Given the description of an element on the screen output the (x, y) to click on. 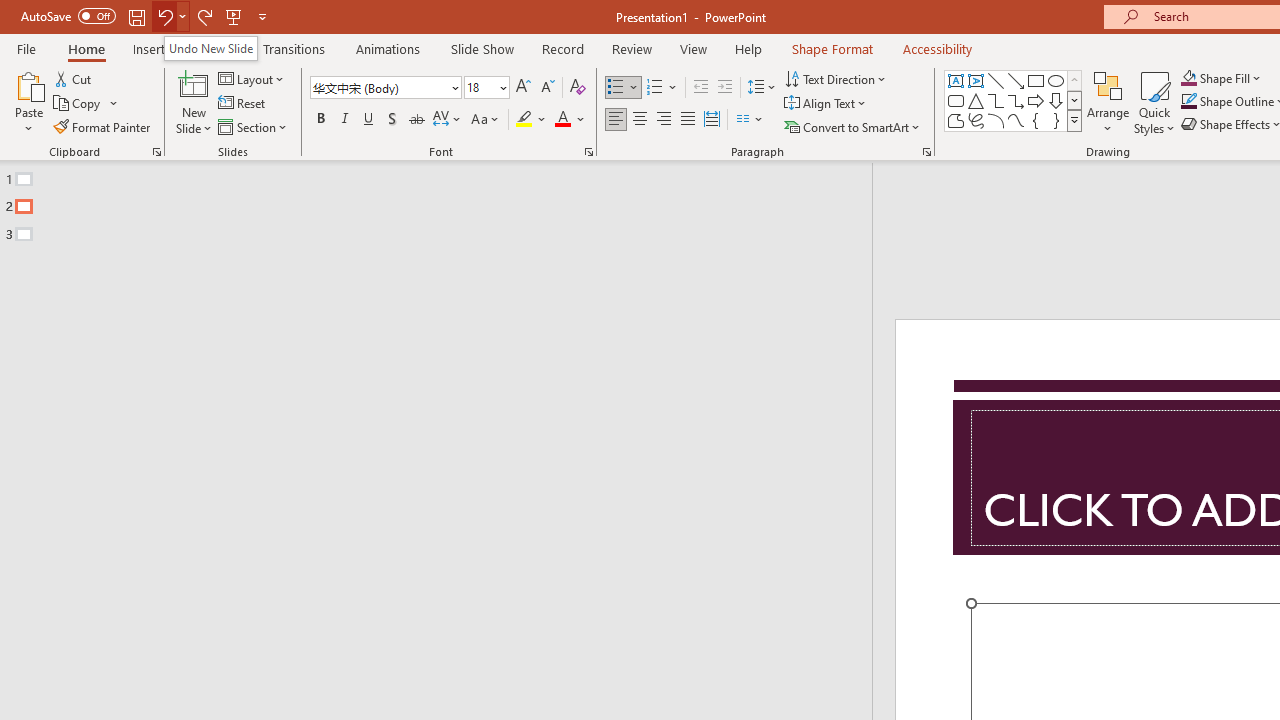
Shape Fill Orange, Accent 2 (1188, 78)
